Given the description of an element on the screen output the (x, y) to click on. 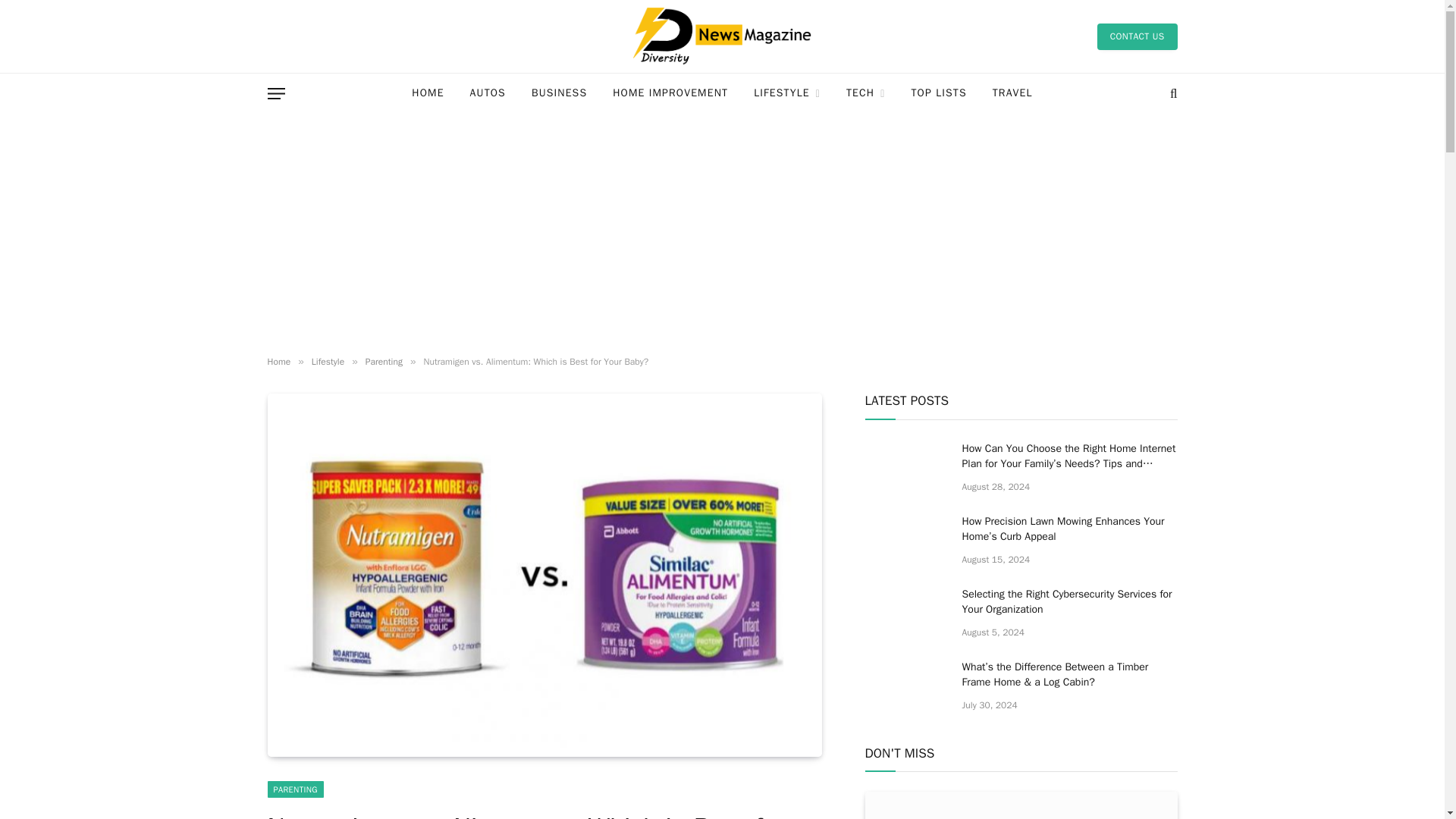
CONTACT US (1137, 35)
HOME (427, 93)
TECH (865, 93)
HOME IMPROVEMENT (670, 93)
LIFESTYLE (786, 93)
Diversity News Magazine (721, 36)
AUTOS (487, 93)
TOP LISTS (938, 93)
BUSINESS (558, 93)
